Given the description of an element on the screen output the (x, y) to click on. 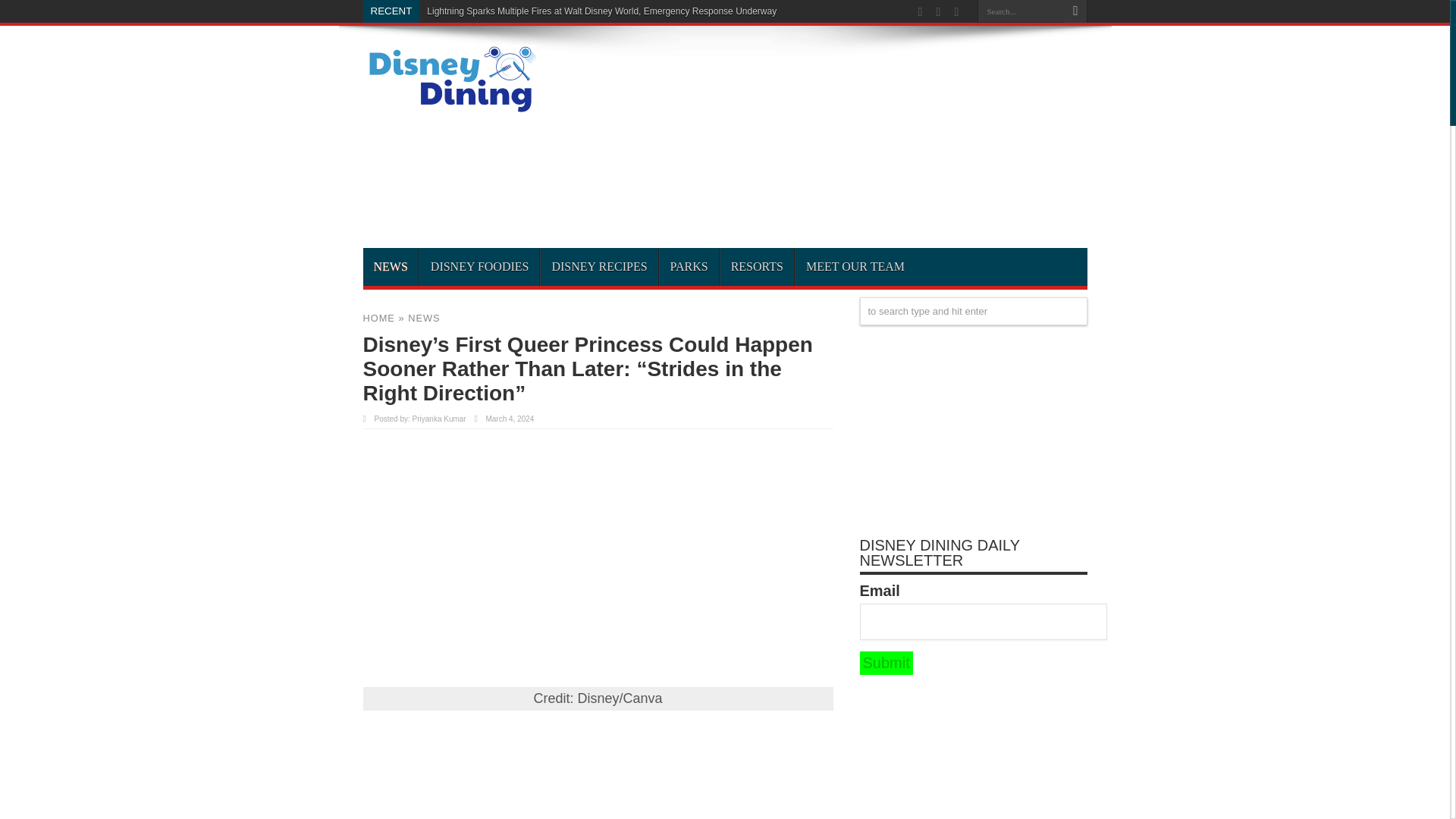
HOME (378, 317)
NEWS (389, 266)
NEWS (423, 317)
Disney Dining (448, 107)
RESORTS (756, 266)
Priyanka Kumar (438, 418)
DISNEY RECIPES (599, 266)
PARKS (689, 266)
Search... (1020, 11)
Search (1075, 11)
DISNEY FOODIES (479, 266)
MEET OUR TEAM (854, 266)
to search type and hit enter (973, 311)
